Given the description of an element on the screen output the (x, y) to click on. 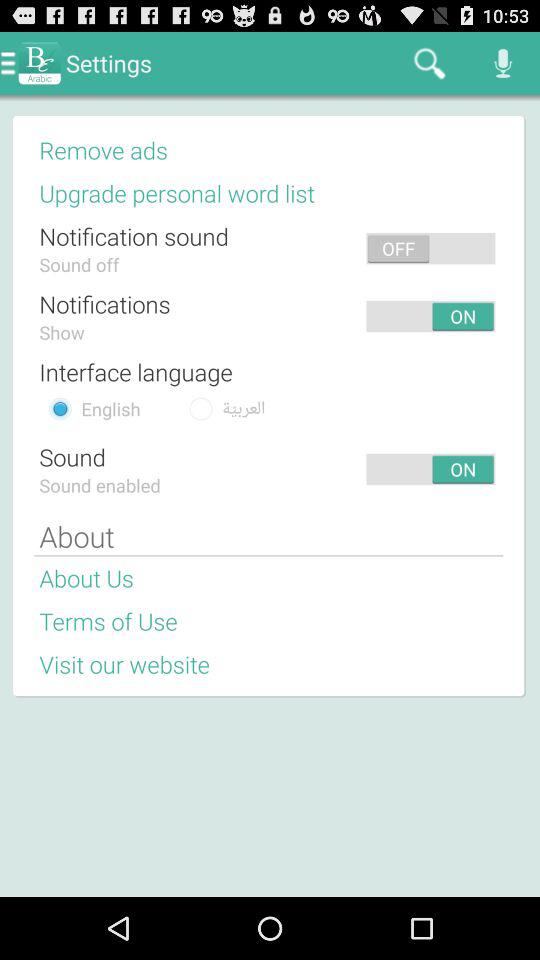
launch the visit our website app (124, 664)
